Given the description of an element on the screen output the (x, y) to click on. 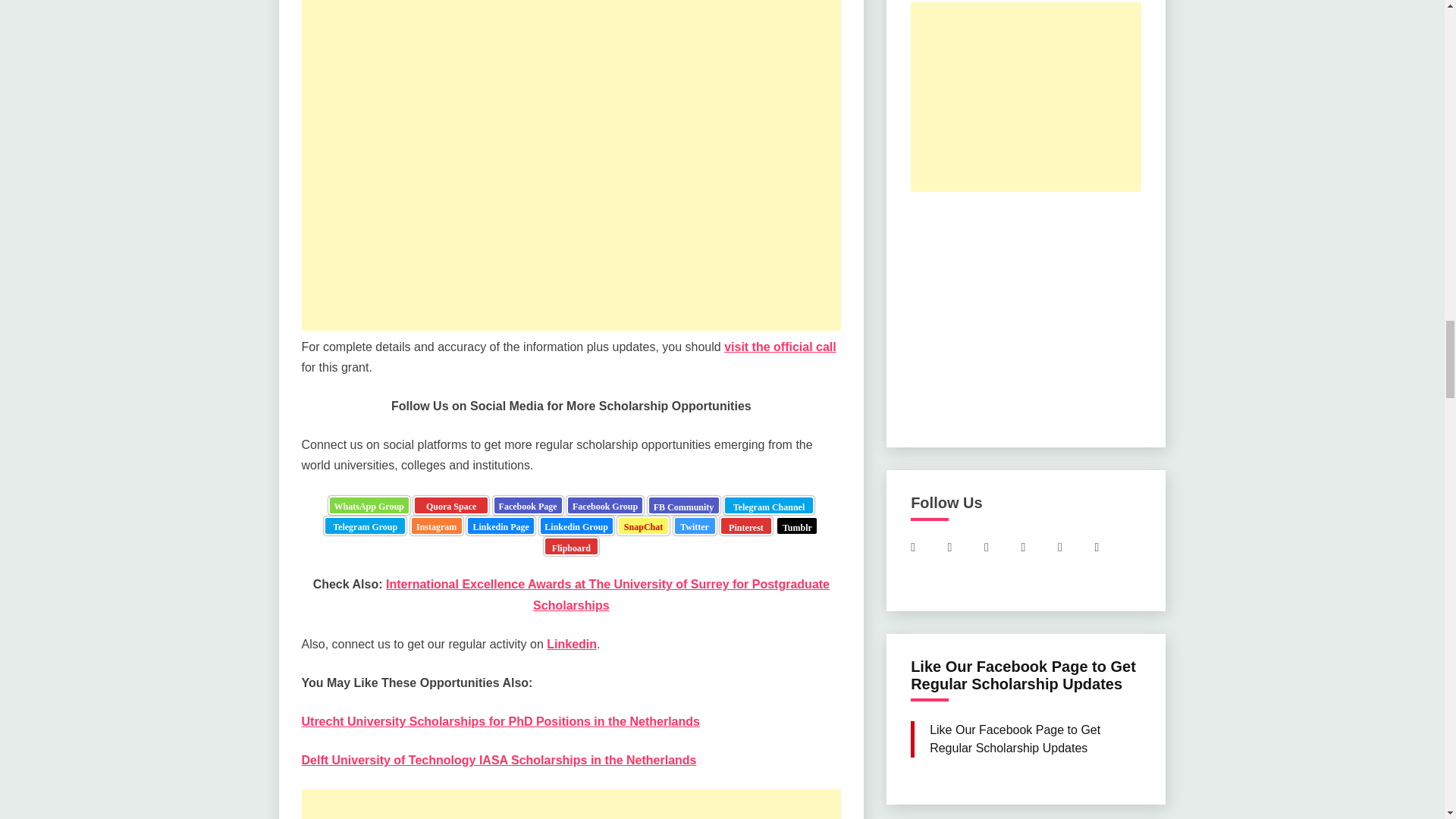
Advertisement (571, 811)
visit the official call (653, 358)
Undergraduate Degree Scholarships Available in France (587, 236)
Advertisement (571, 138)
